Given the description of an element on the screen output the (x, y) to click on. 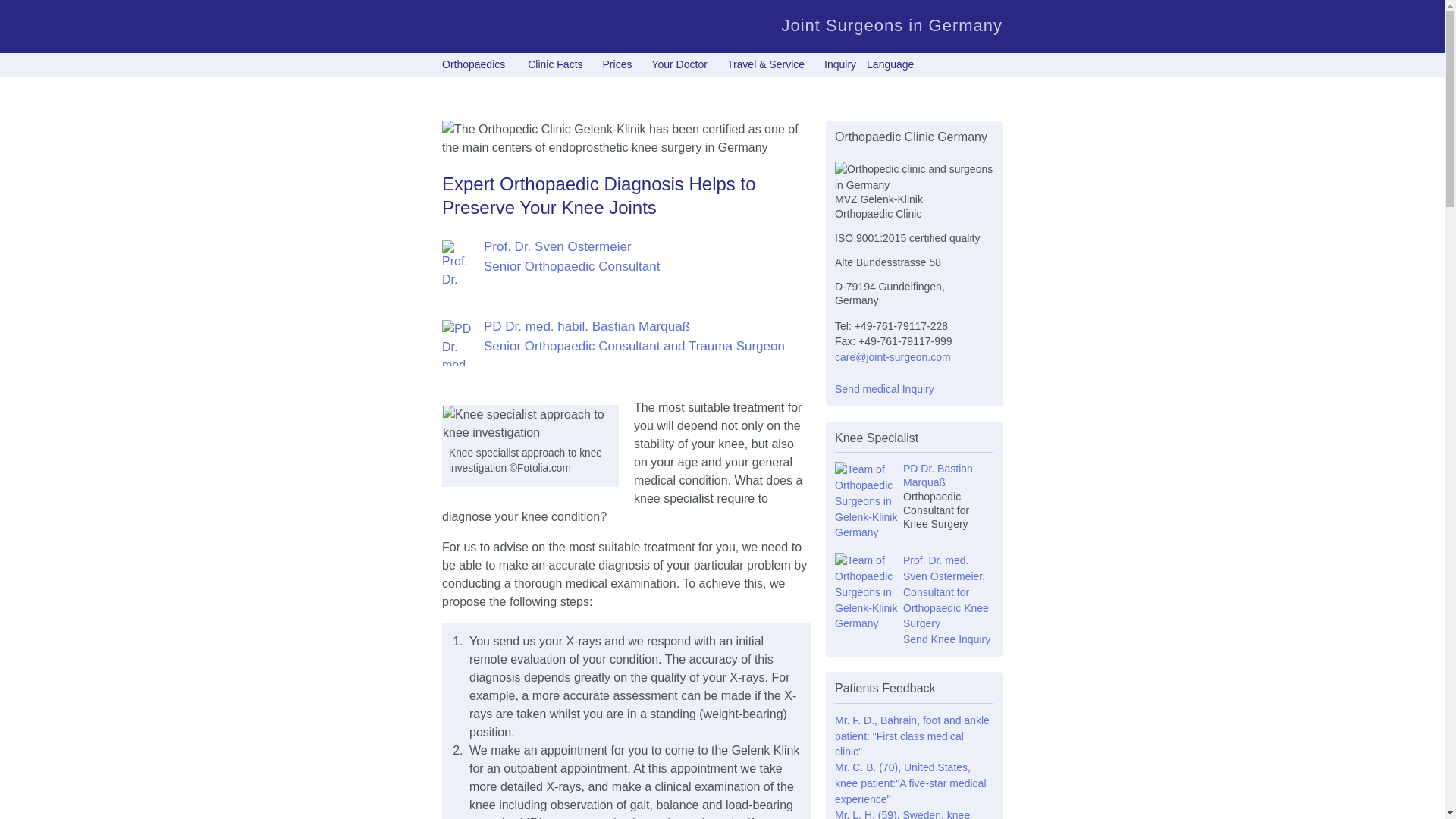
Orthopaedics (477, 64)
joint-surgeon.com - Orthopaedic Treatment in Germany (495, 26)
